Given the description of an element on the screen output the (x, y) to click on. 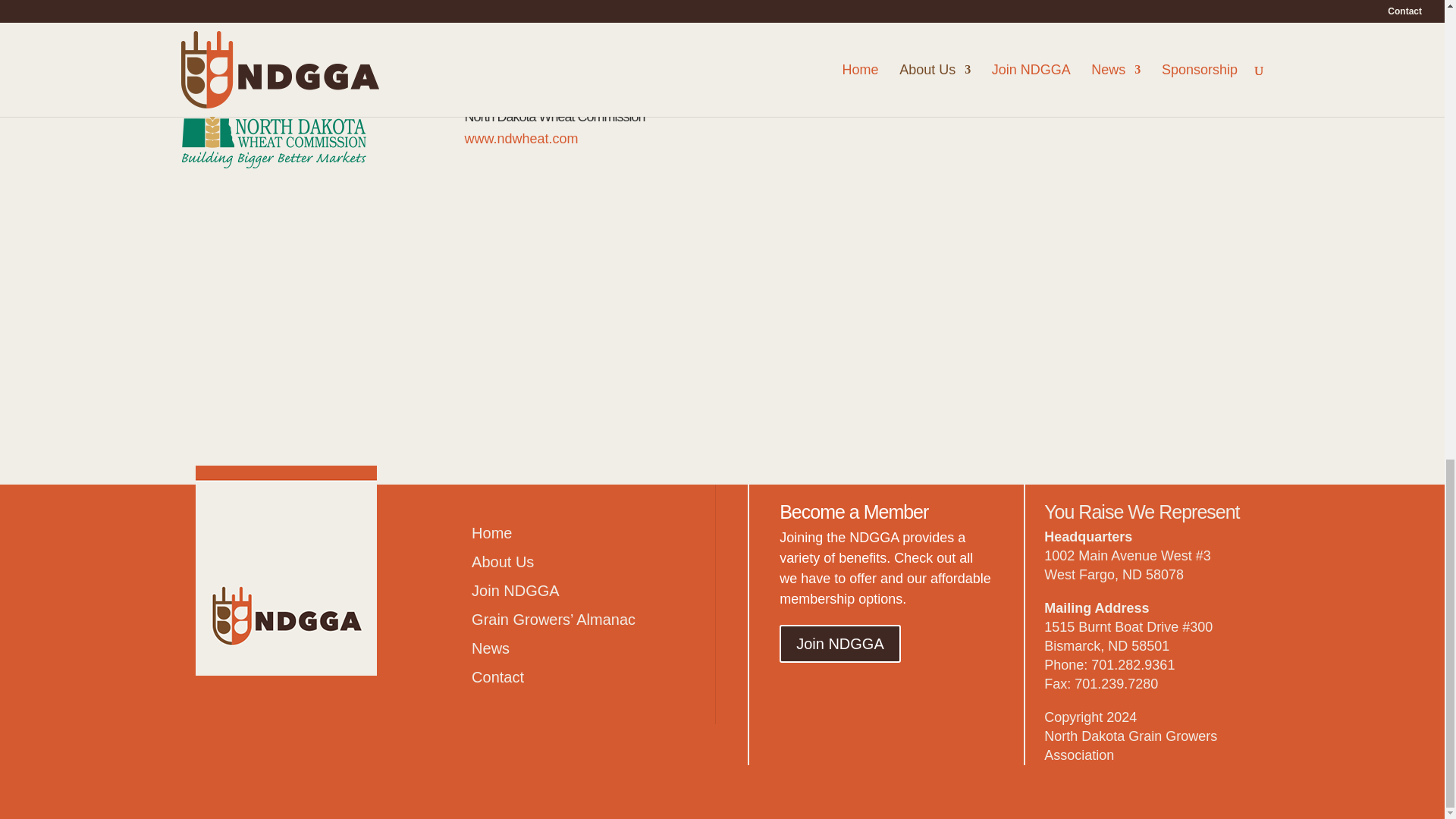
Contact (497, 677)
Join NDGGA (515, 590)
About Us (502, 561)
News (490, 647)
www.ndwheat.com (521, 138)
www.nationalbarley.com (537, 52)
Join NDGGA (839, 643)
Home (491, 532)
www.ndbarley.net (229, 51)
